Given the description of an element on the screen output the (x, y) to click on. 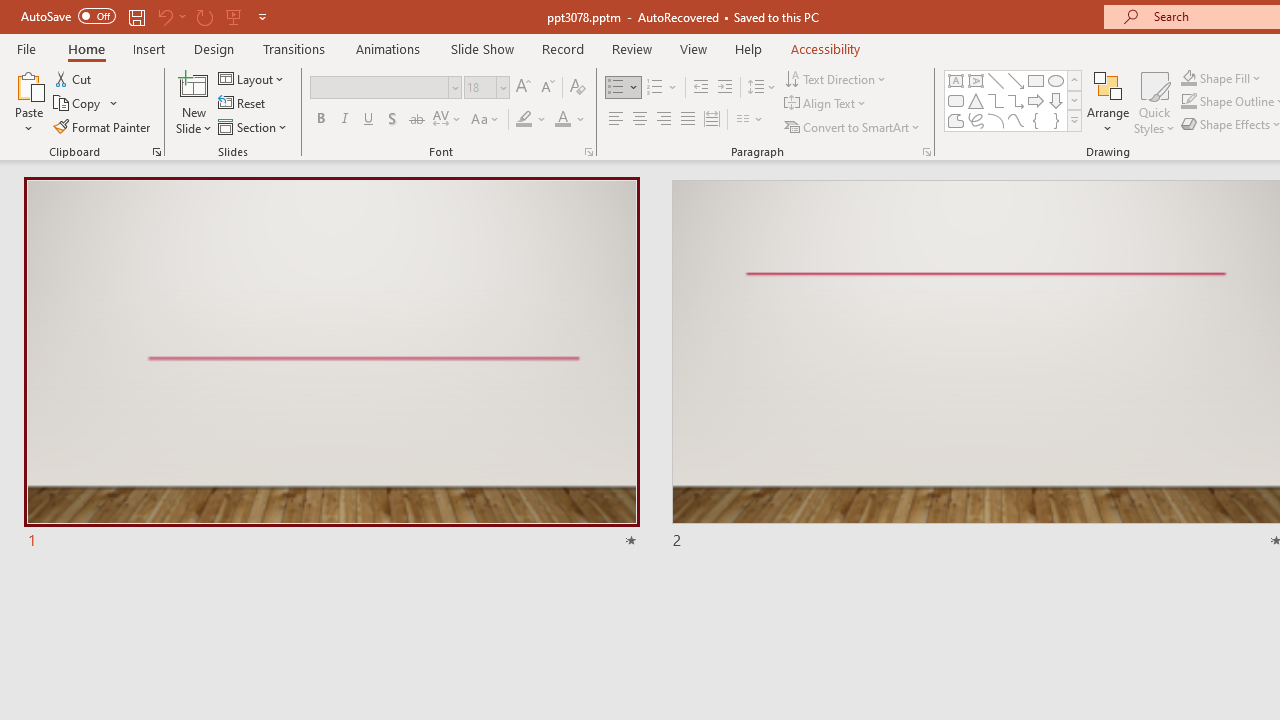
Curve (1016, 120)
Strikethrough (416, 119)
Vertical Text Box (975, 80)
Increase Font Size (522, 87)
Align Left (616, 119)
Freeform: Shape (955, 120)
